Given the description of an element on the screen output the (x, y) to click on. 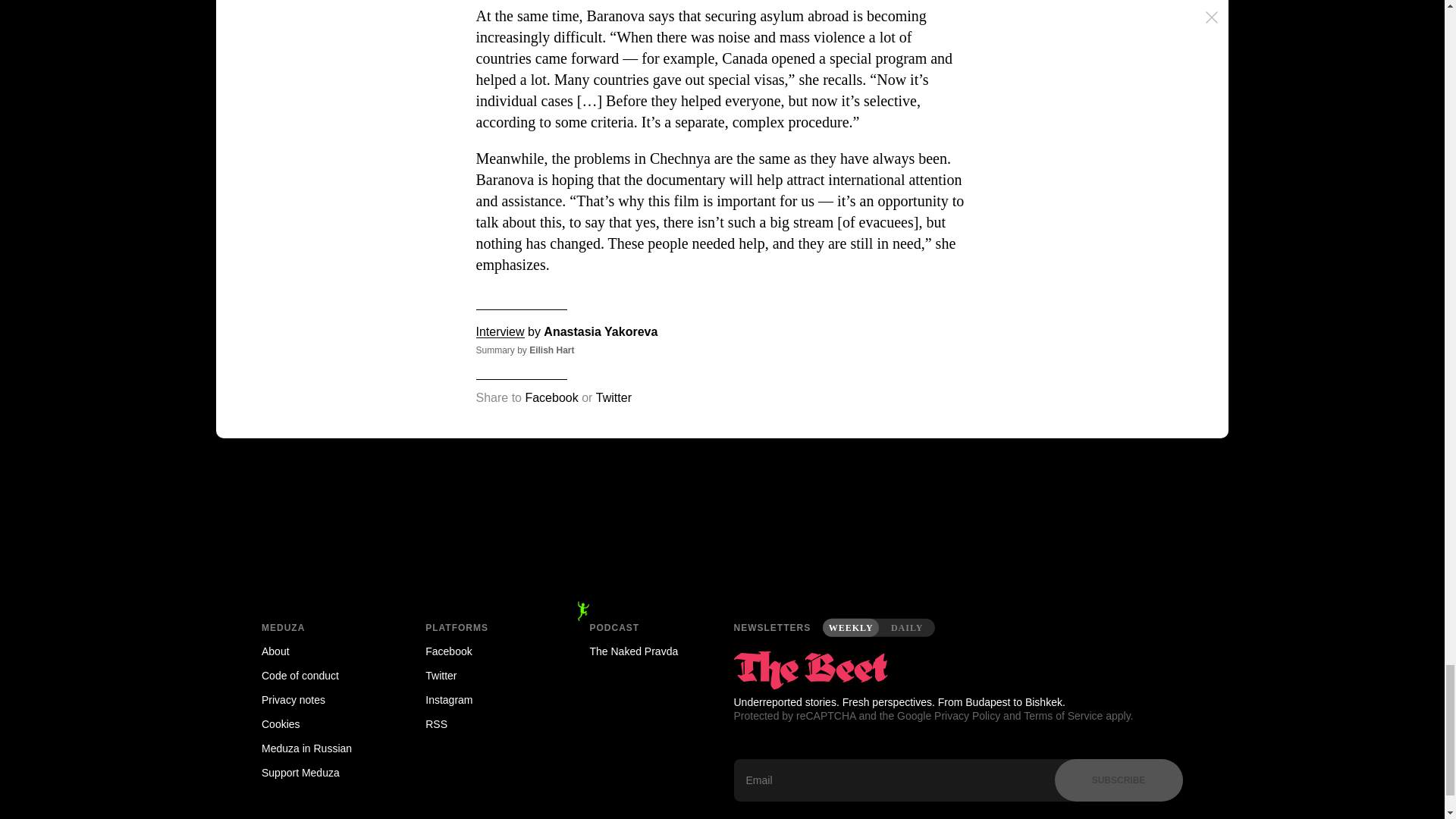
RSS (486, 723)
Meduza in Russian (322, 748)
Twitter (613, 397)
Code of conduct (322, 675)
About (322, 651)
Support Meduza (322, 772)
Cookies (322, 723)
Twitter (486, 675)
Privacy notes (322, 699)
Facebook (486, 651)
